Given the description of an element on the screen output the (x, y) to click on. 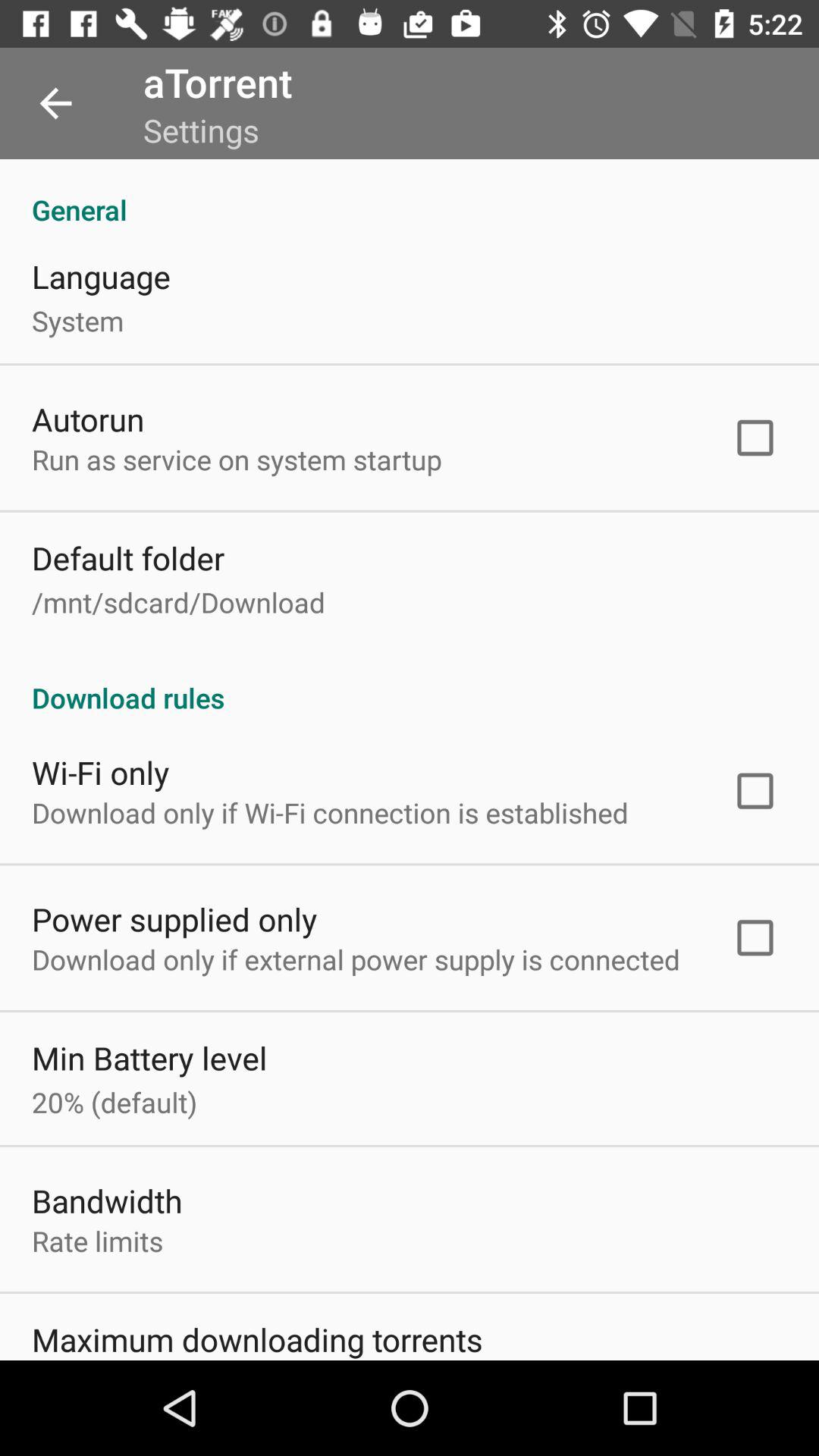
press item below the rate limits item (256, 1338)
